Given the description of an element on the screen output the (x, y) to click on. 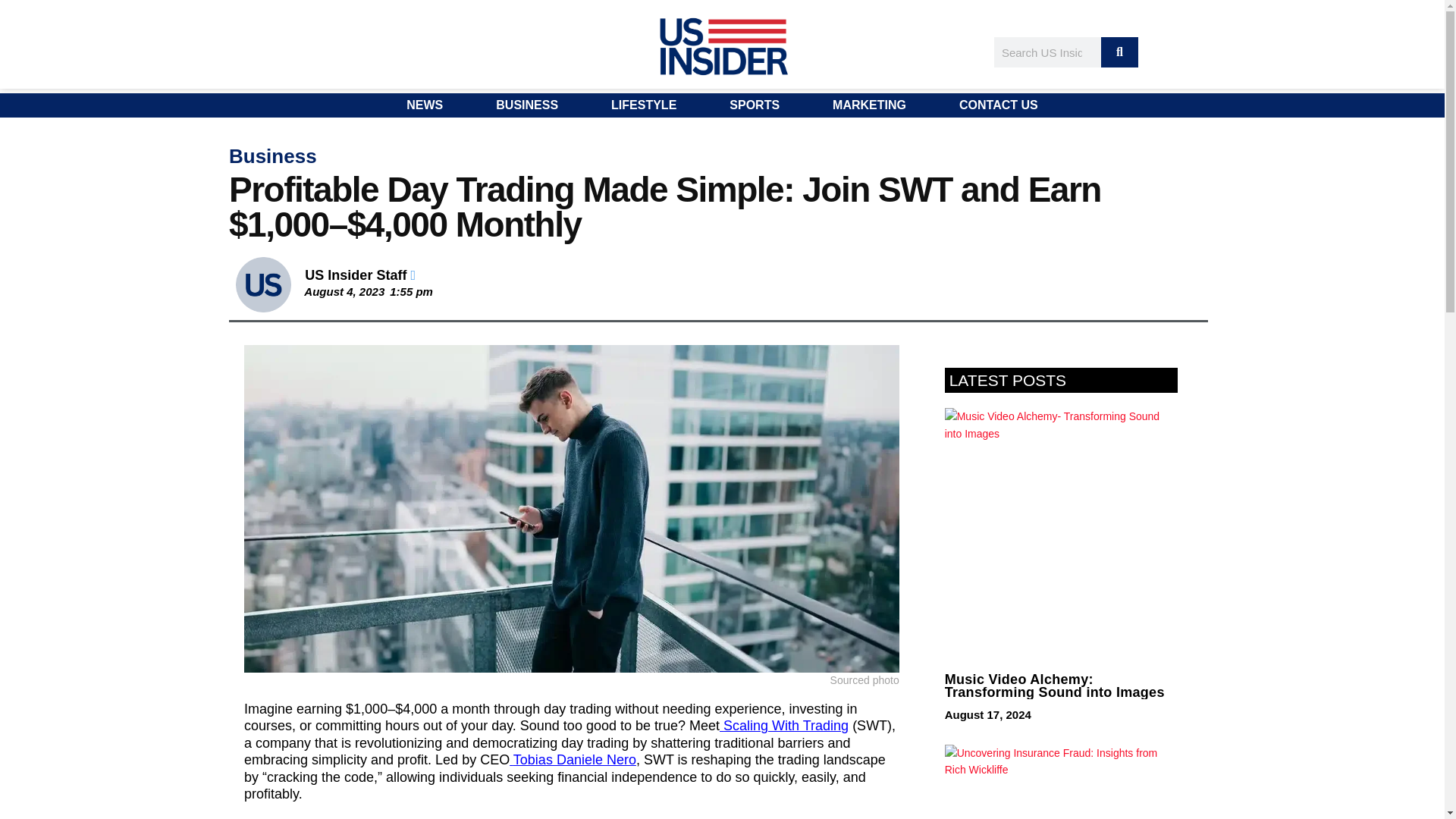
BUSINESS (526, 105)
SPORTS (754, 105)
Scaling With Trading (783, 725)
LIFESTYLE (644, 105)
Business (272, 155)
US Insider Staff (359, 274)
Tobias Daniele Nero (572, 759)
MARKETING (869, 105)
CONTACT US (998, 105)
NEWS (424, 105)
